Given the description of an element on the screen output the (x, y) to click on. 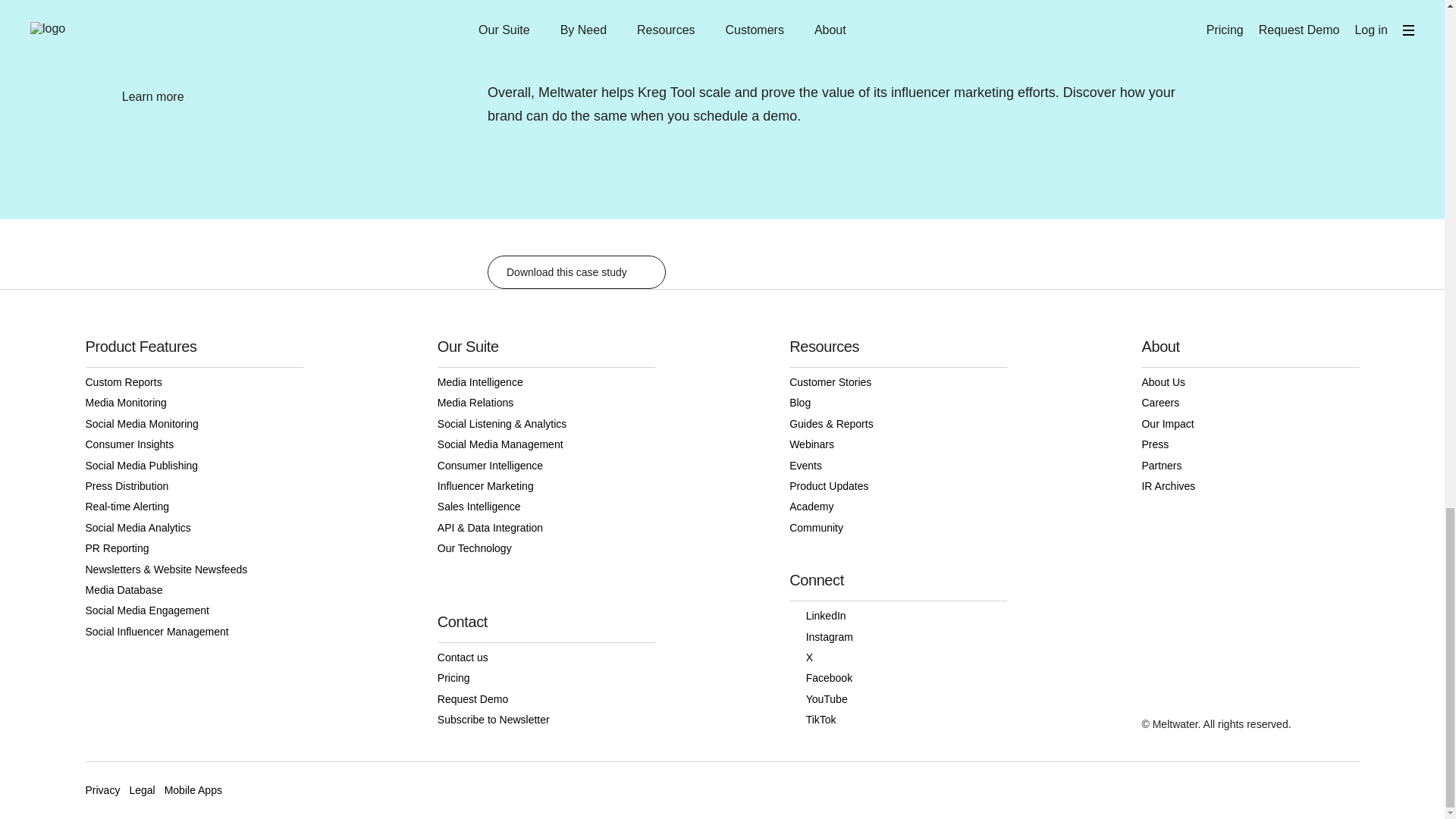
PR Reporting (193, 548)
Custom Reports (193, 382)
Real-time Alerting (193, 506)
Social Media Engagement (193, 610)
Our Technology (546, 548)
Consumer Insights (193, 444)
Media Database (193, 589)
Media Intelligence (546, 382)
Influencer Marketing (546, 485)
Social Media Monitoring (193, 424)
